Given the description of an element on the screen output the (x, y) to click on. 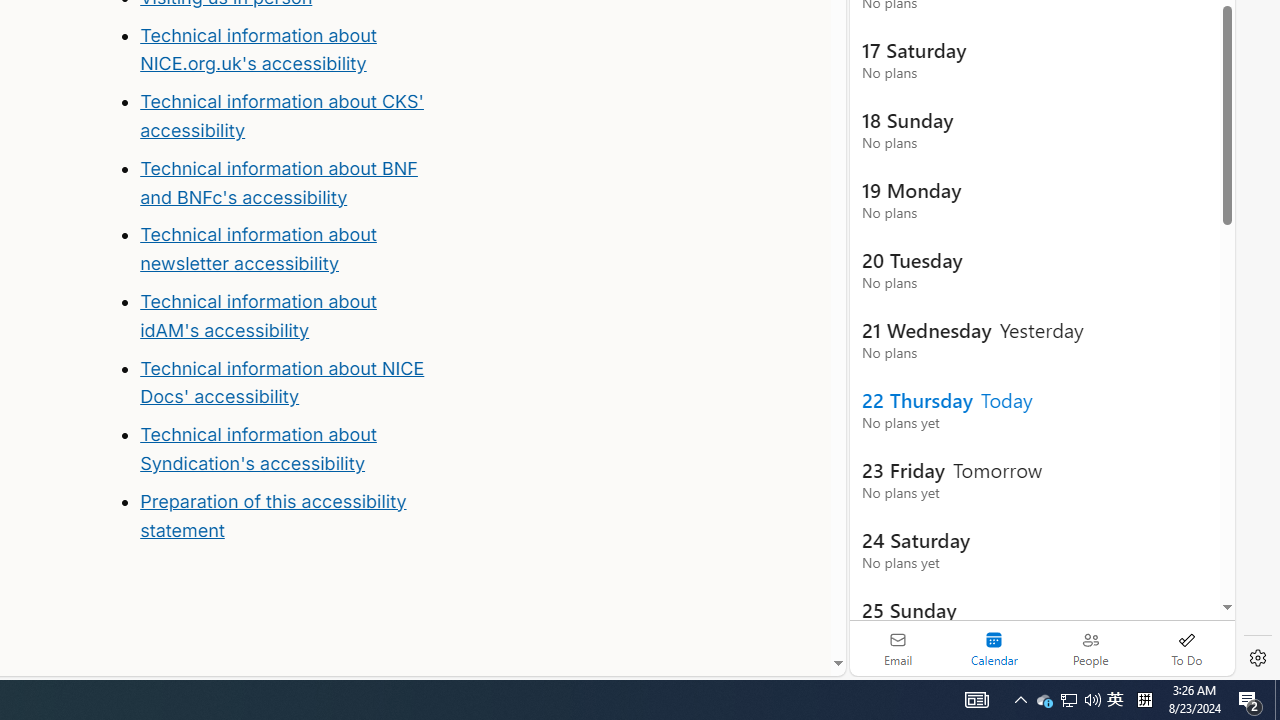
Technical information about BNF and BNFc's accessibility (278, 182)
People (1090, 648)
Technical information about NICE Docs' accessibility (281, 382)
Preparation of this accessibility statement (287, 515)
Technical information about NICE.org.uk's accessibility (258, 48)
To Do (1186, 648)
Selected calendar module. Date today is 22 (994, 648)
Technical information about idAM's accessibility (258, 315)
Email (898, 648)
